Given the description of an element on the screen output the (x, y) to click on. 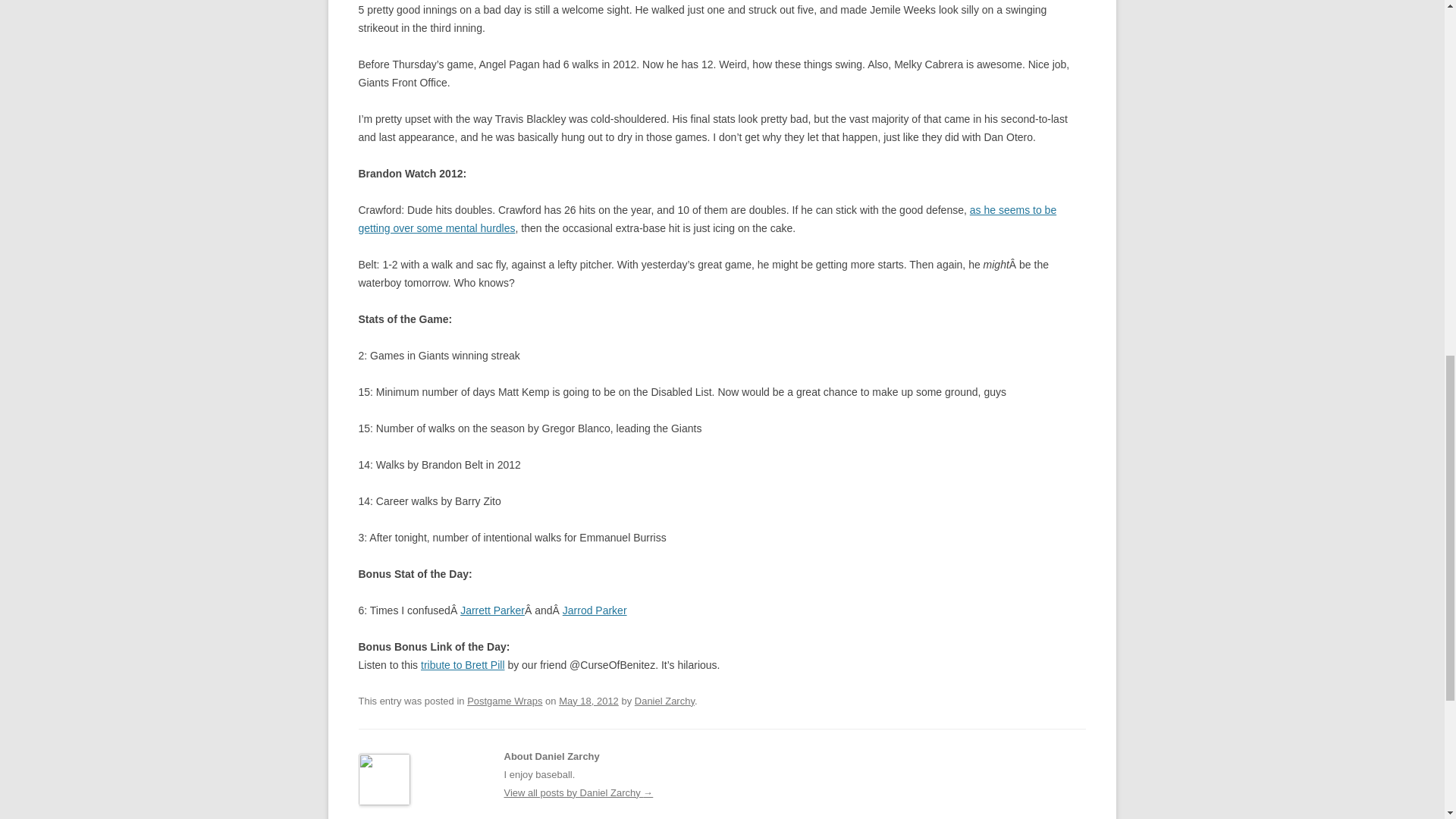
Postgame Wraps (504, 700)
View all posts by Daniel Zarchy (664, 700)
Jarrett Parker (492, 610)
Daniel Zarchy (664, 700)
Jarrod Parker (594, 610)
10:46 pm (588, 700)
as he seems to be getting over some mental hurdles (707, 218)
tribute to Brett Pill (462, 664)
May 18, 2012 (588, 700)
